Given the description of an element on the screen output the (x, y) to click on. 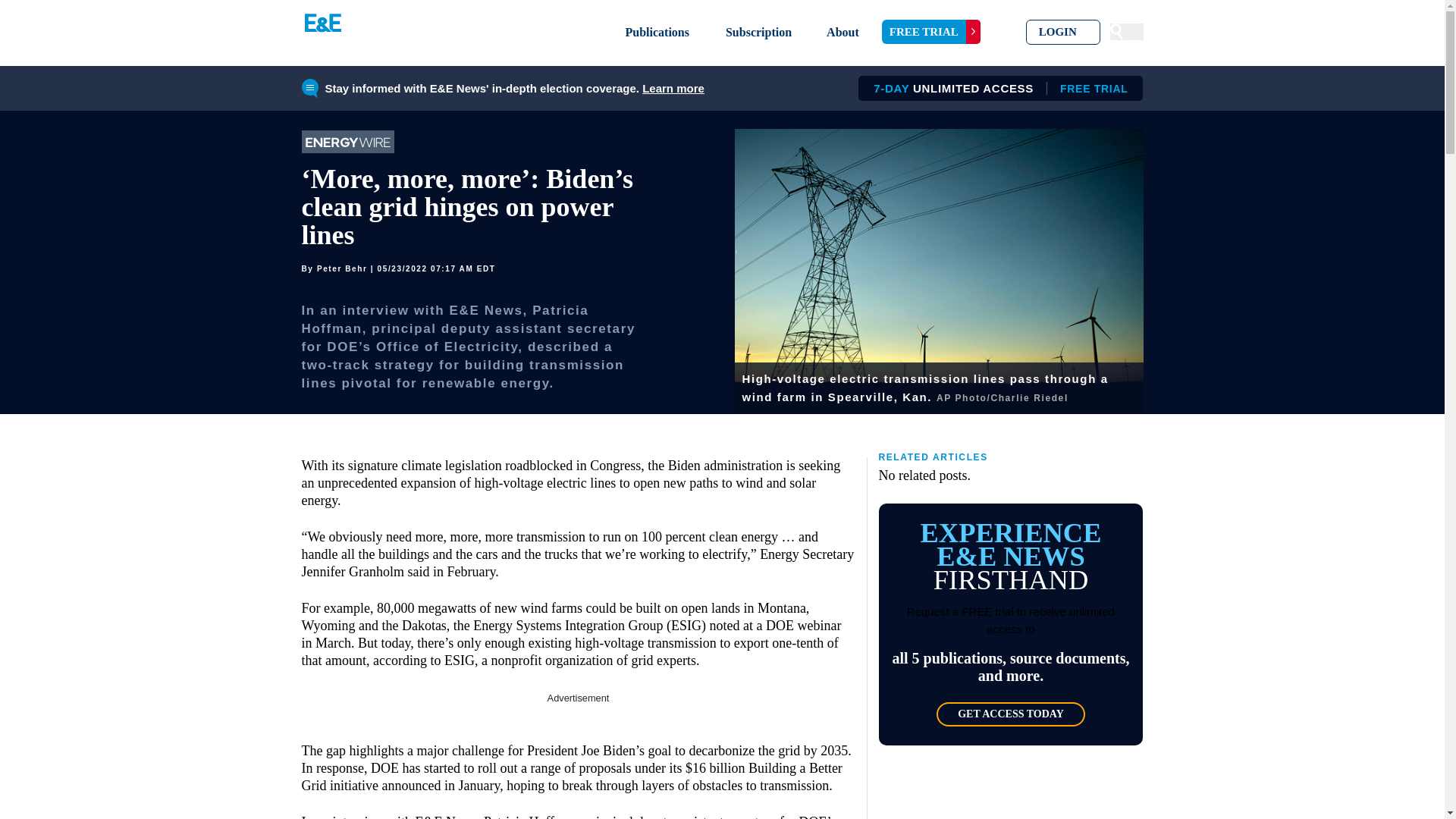
GET ACCESS TODAY (1010, 713)
About (843, 32)
Subscription (758, 32)
Publications (656, 32)
Learn more (673, 88)
LOGIN (994, 88)
FREE TRIAL (1063, 32)
